Given the description of an element on the screen output the (x, y) to click on. 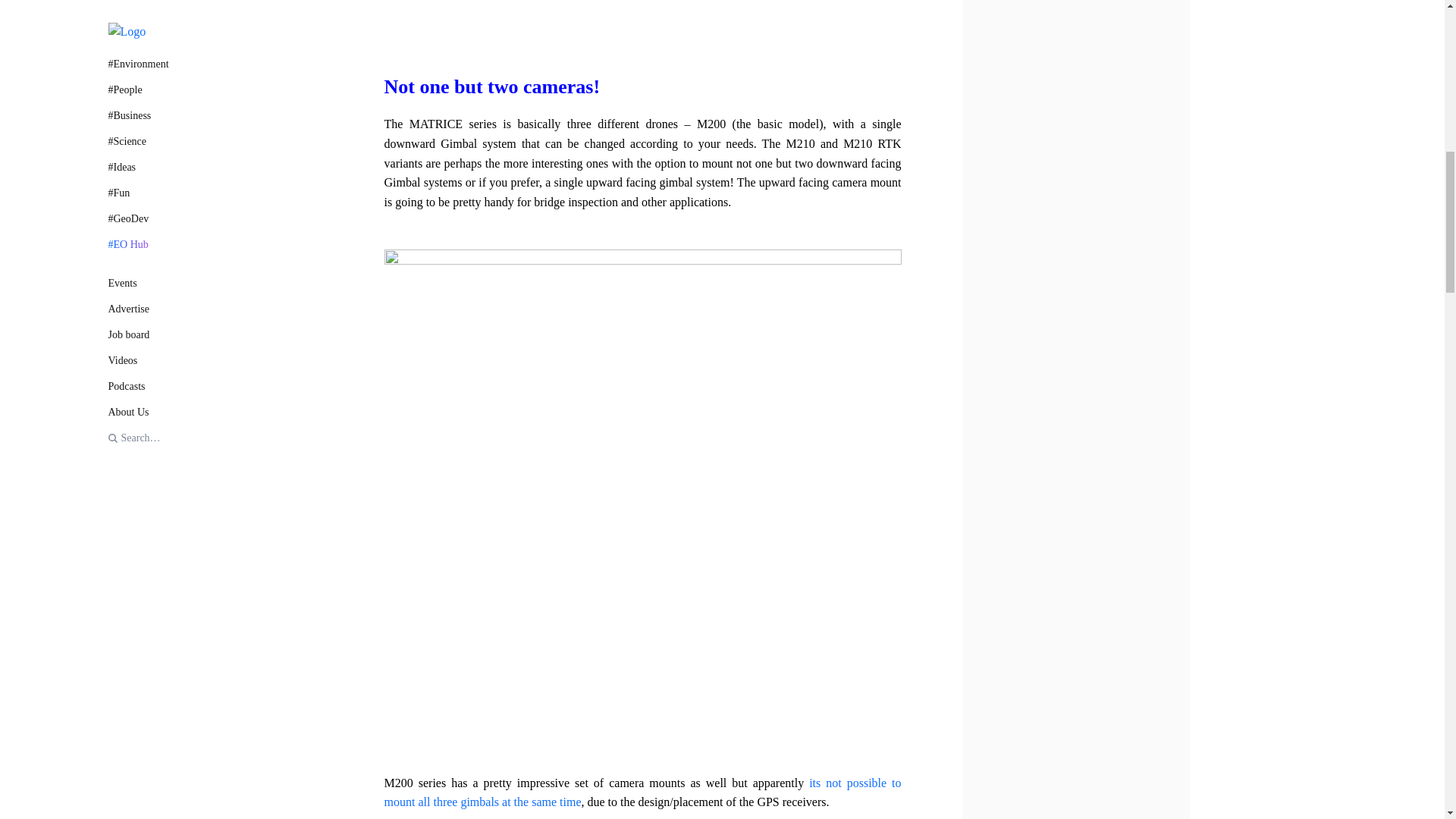
its not possible to mount all three gimbals at the same time (642, 792)
